Given the description of an element on the screen output the (x, y) to click on. 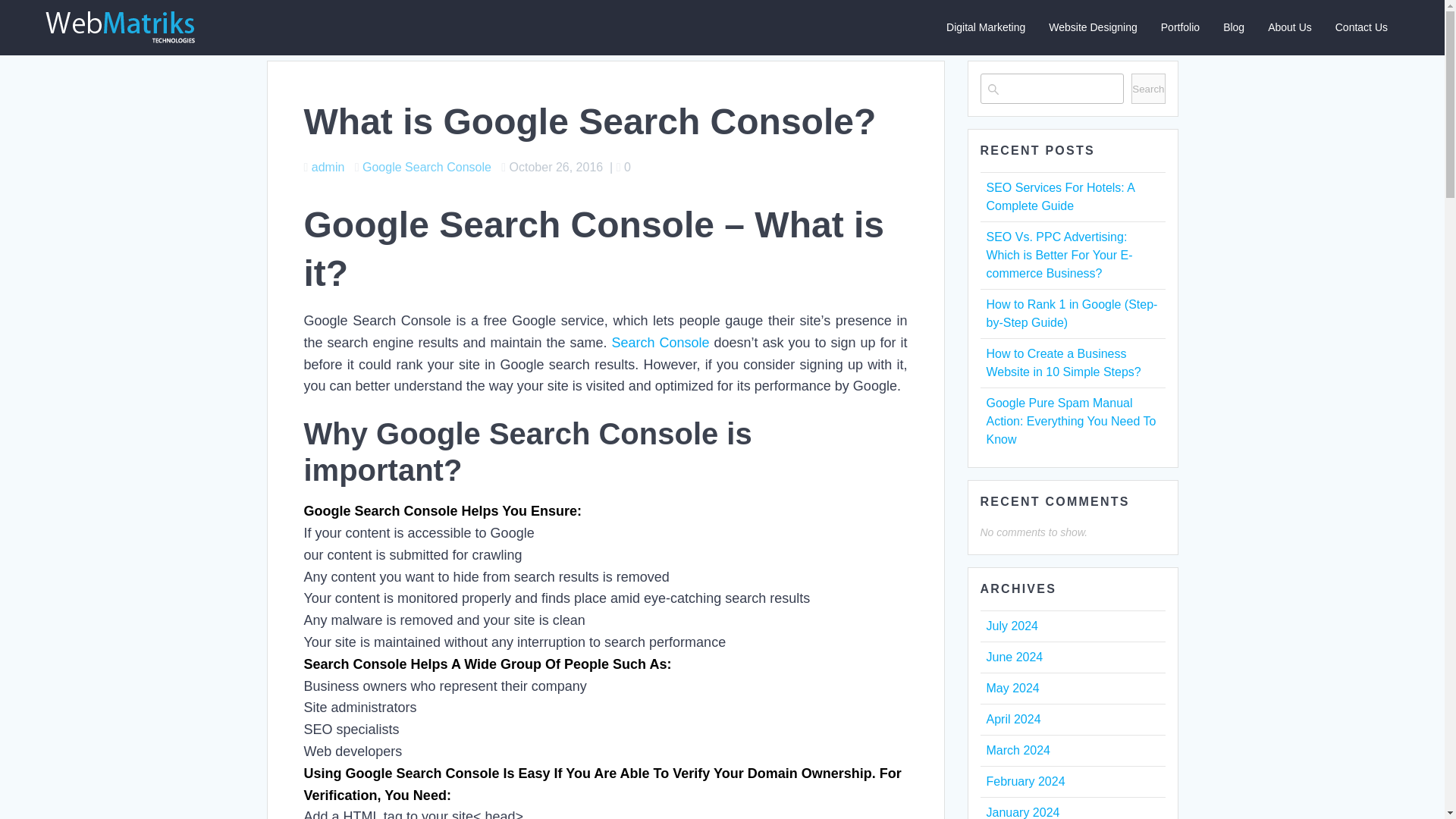
Website Designing (1092, 27)
Digital Marketing (985, 27)
Posts by admin (328, 166)
